Given the description of an element on the screen output the (x, y) to click on. 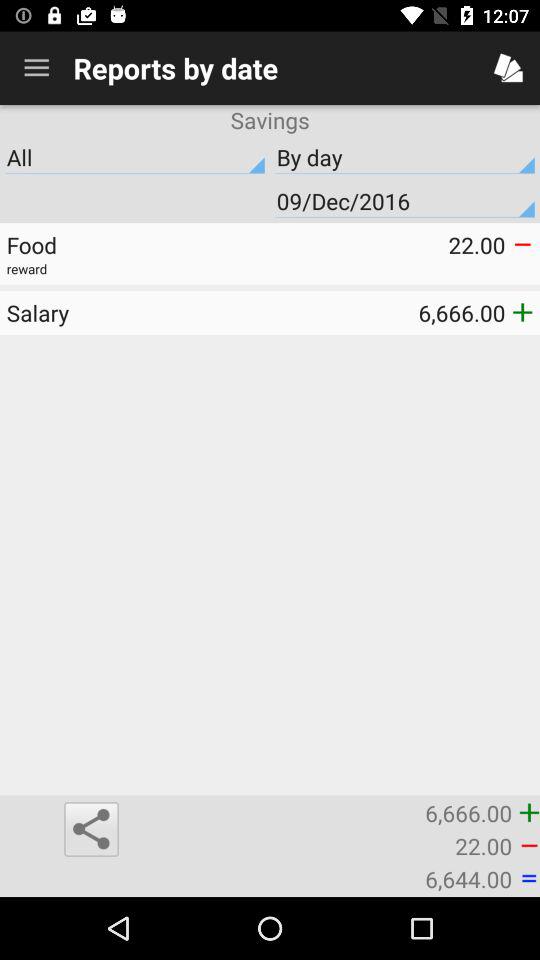
turn off the 09/dec/2016 (405, 201)
